Given the description of an element on the screen output the (x, y) to click on. 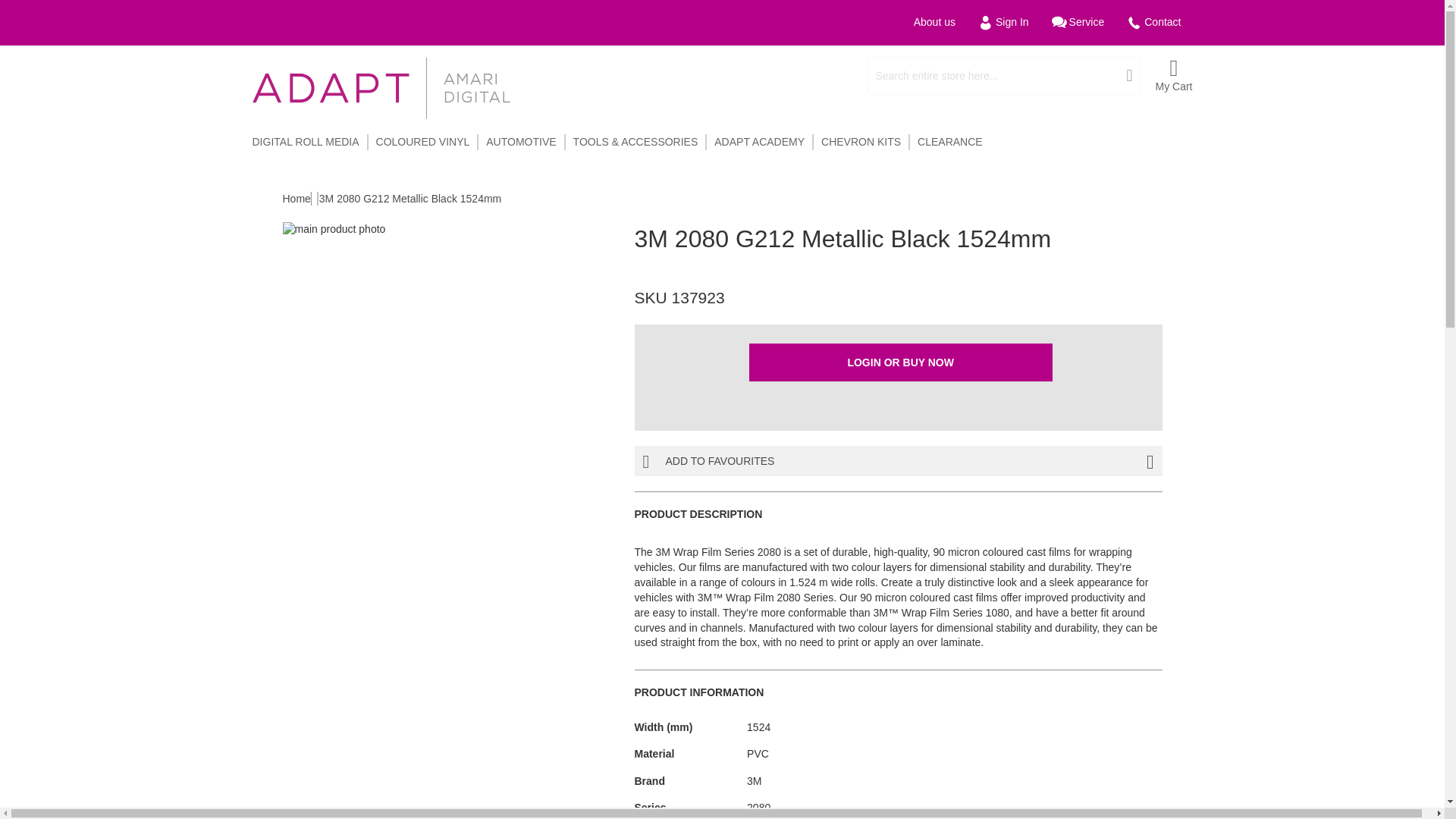
Service (1078, 22)
COLOURED VINYL (423, 141)
DIGITAL ROLL MEDIA (305, 141)
Contact (1153, 22)
Digital Roll Media (305, 141)
My Cart (1174, 75)
Sign In (1003, 22)
About us (934, 22)
